Given the description of an element on the screen output the (x, y) to click on. 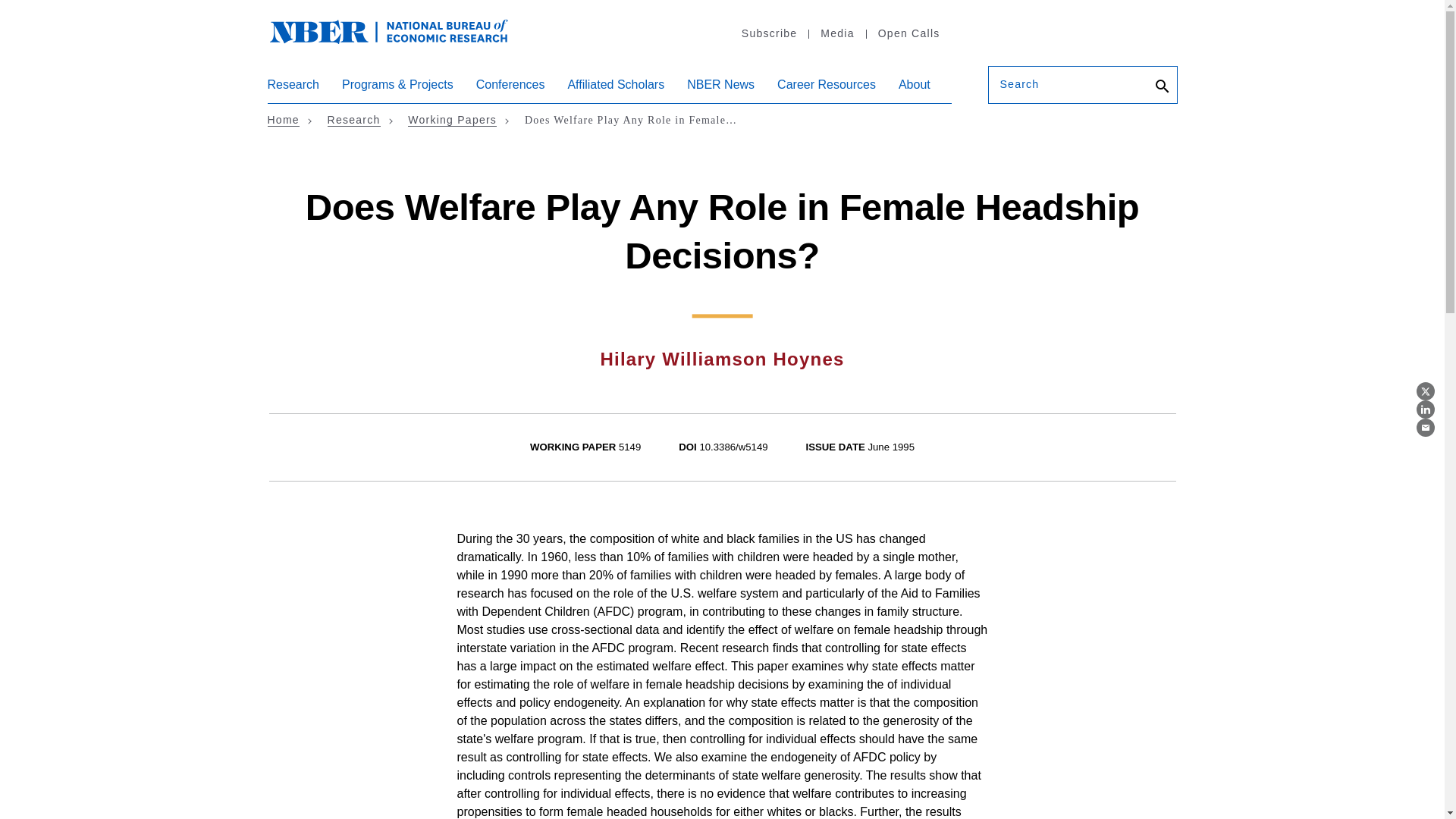
NBER: National Bureau of Economic Research (400, 39)
Subscribe (769, 33)
Email (1425, 427)
Research (292, 90)
Media (836, 33)
Open Calls (909, 33)
LinkedIn (1425, 409)
Twitter (1425, 391)
NBER: National Bureau of Economic Research (387, 31)
